Given the description of an element on the screen output the (x, y) to click on. 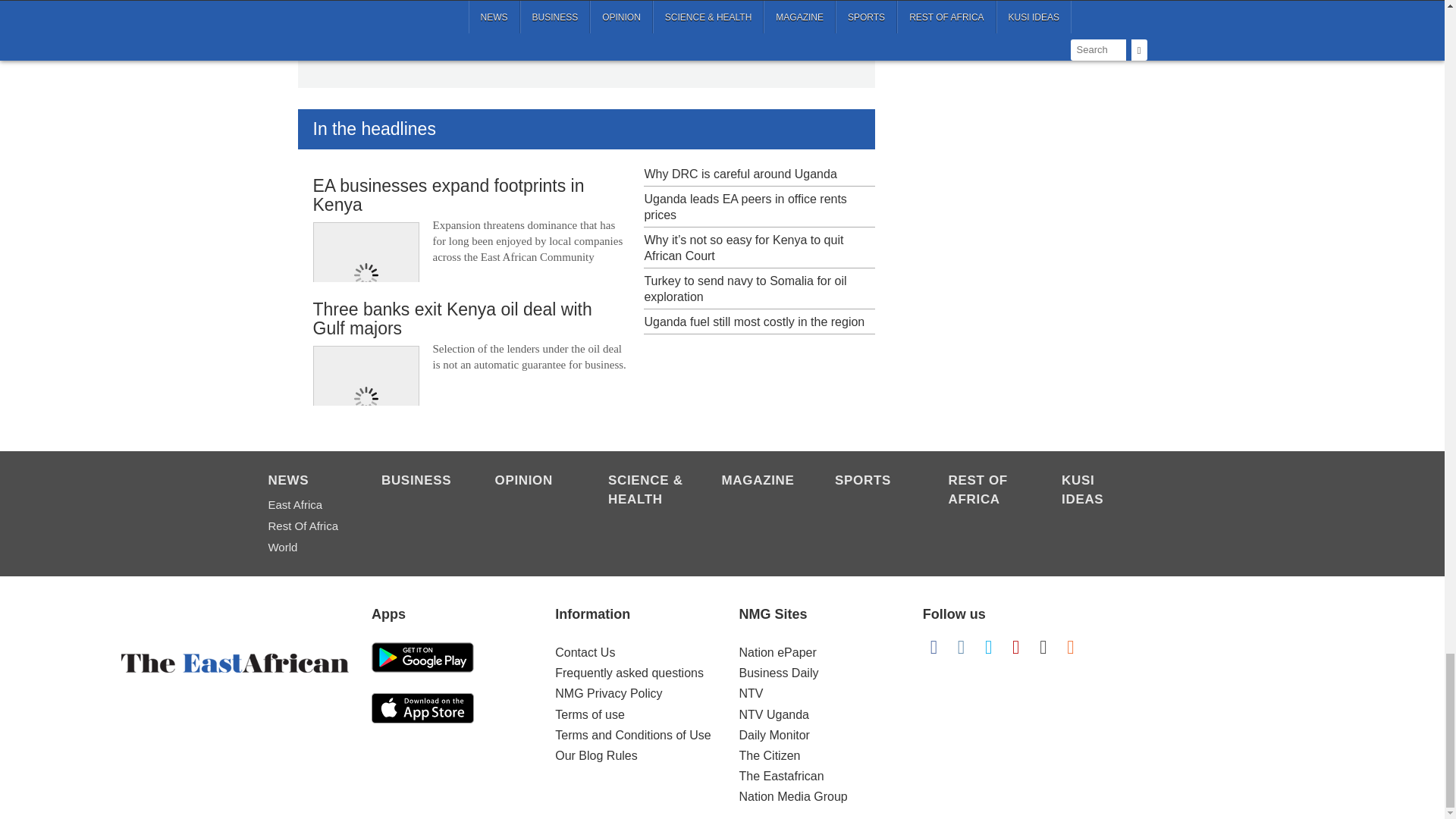
KUSI IDEAS (1099, 491)
Rest of Africa (306, 526)
Magazine (760, 481)
East Africa (306, 504)
Opinion (533, 481)
Sports (873, 481)
World (306, 547)
Contact Us (584, 652)
Rest of Africa (987, 491)
News (306, 481)
Business (419, 481)
